Given the description of an element on the screen output the (x, y) to click on. 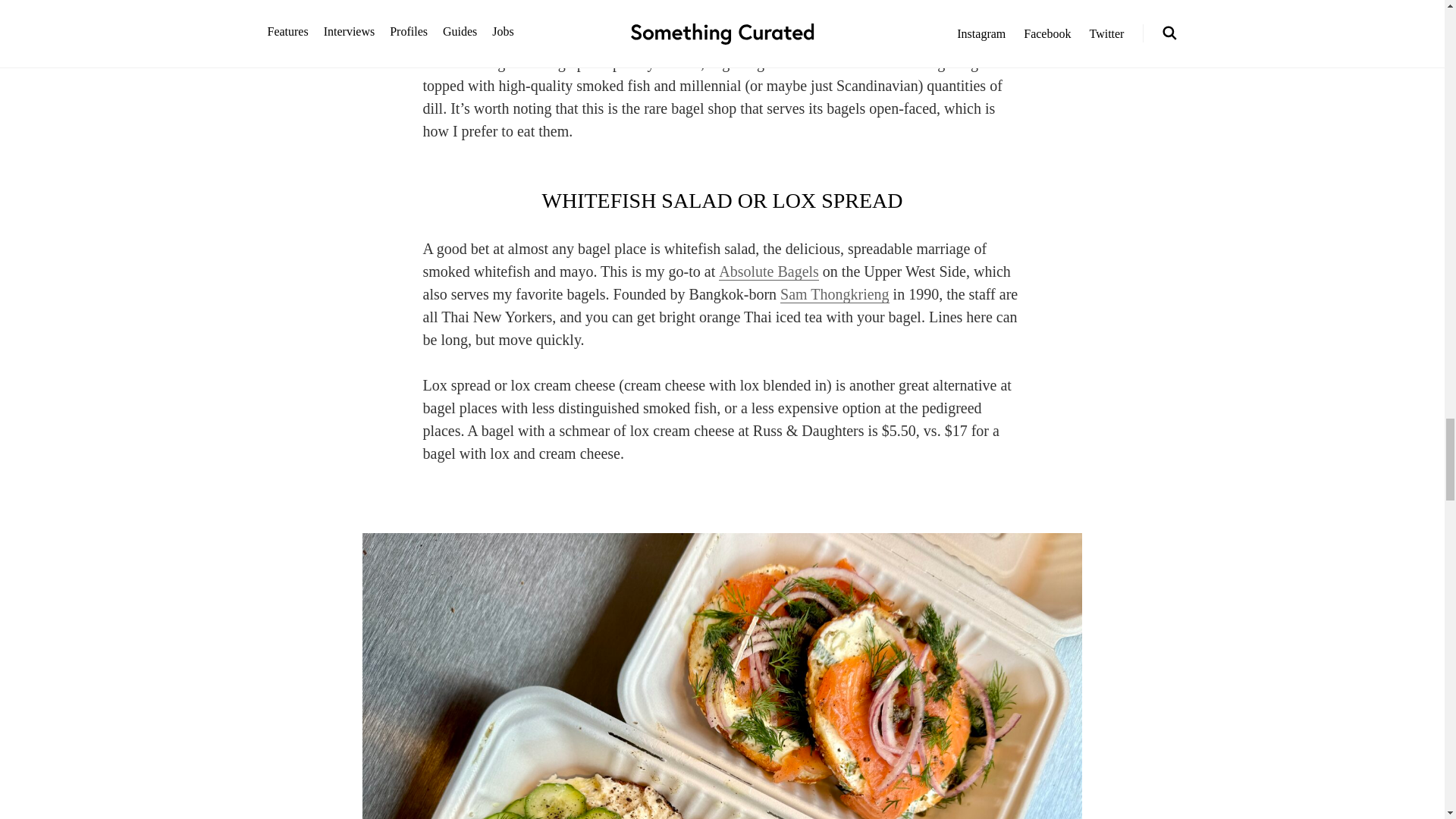
Sam Thongkrieng (834, 294)
Absolute Bagels (768, 271)
Apollo Bagels (823, 40)
